Given the description of an element on the screen output the (x, y) to click on. 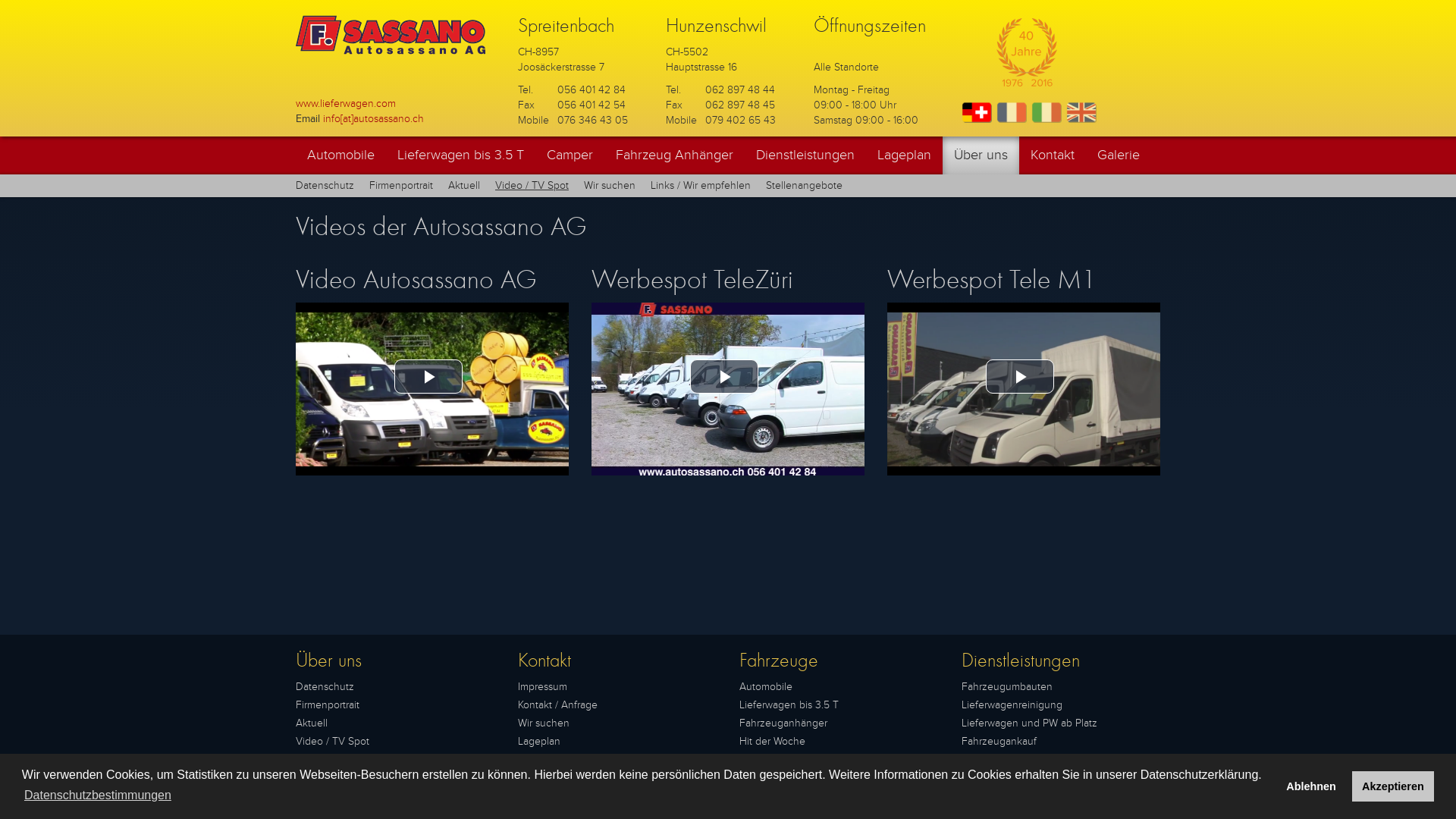
Stellenangebote Element type: text (803, 184)
Automobile Element type: text (340, 155)
Stellenangebote Element type: text (333, 777)
Fahrzeugumbauten Element type: text (1006, 686)
Firmenportrait Element type: text (327, 704)
Akzeptieren Element type: text (1393, 786)
Wir suchen Element type: text (542, 722)
Lieferwagen bis 3.5 T Element type: text (788, 704)
Video / TV Spot Element type: text (531, 184)
Datenschutz Element type: text (324, 184)
Impressum Element type: text (541, 686)
Dienstleistungen Element type: text (805, 155)
Lieferwagenreinigung Element type: text (1011, 704)
Finanzierung - Leasing Element type: text (1013, 777)
Galerie Element type: text (1118, 155)
Aktuell Element type: text (464, 184)
Lageplan Element type: text (904, 155)
Autosassano AG Element type: text (372, 803)
Play Video Element type: text (724, 376)
Lieferwagen und PW ab Platz Element type: text (1029, 722)
Kontakt Element type: text (1052, 155)
Video / TV Spot Element type: text (332, 740)
Automobile Element type: text (765, 686)
Ablehnen Element type: text (1311, 786)
info[at]autosassano.ch Element type: text (373, 118)
Lieferwagen bis 3.5 T Element type: text (460, 155)
Wir suchen Element type: text (609, 184)
Hit der Woche Element type: text (772, 740)
Lageplan Element type: text (538, 740)
Occasions Garantie Element type: text (1006, 759)
www.lieferwagen.com Element type: text (345, 103)
Links / Wir empfehlen Element type: text (345, 759)
Play Video Element type: text (428, 376)
Fahrzeugankauf Element type: text (998, 740)
Firmenportrait Element type: text (401, 184)
Camper Element type: text (569, 155)
Kontakt / Anfrage Element type: text (556, 704)
Datenschutz Element type: text (324, 686)
Datenschutzbestimmungen Element type: text (97, 795)
Play Video Element type: text (1019, 376)
Aktuell Element type: text (311, 722)
Links / Wir empfehlen Element type: text (700, 184)
